Given the description of an element on the screen output the (x, y) to click on. 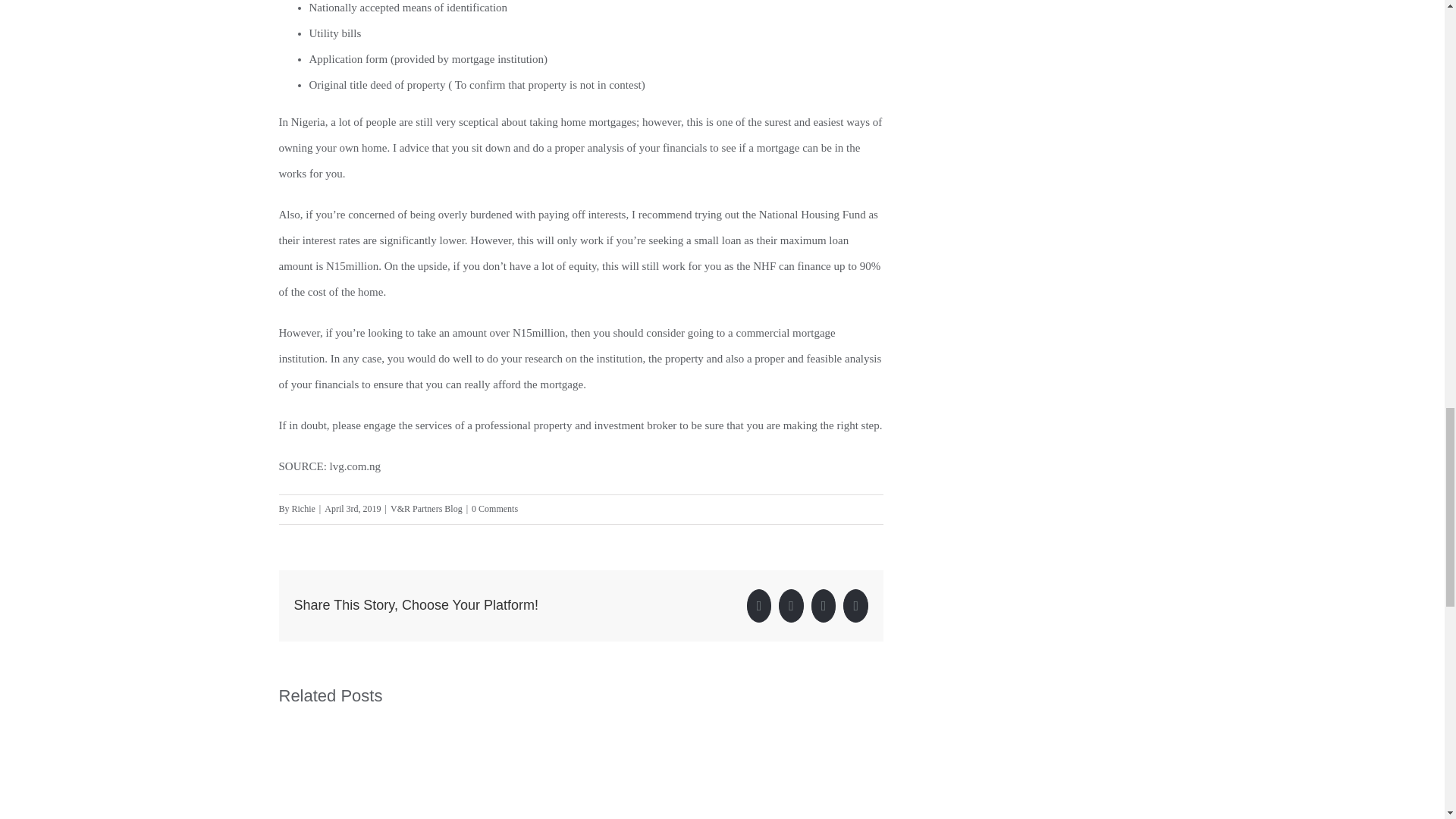
0 Comments (494, 508)
Richie (303, 508)
Posts by Richie (303, 508)
